Given the description of an element on the screen output the (x, y) to click on. 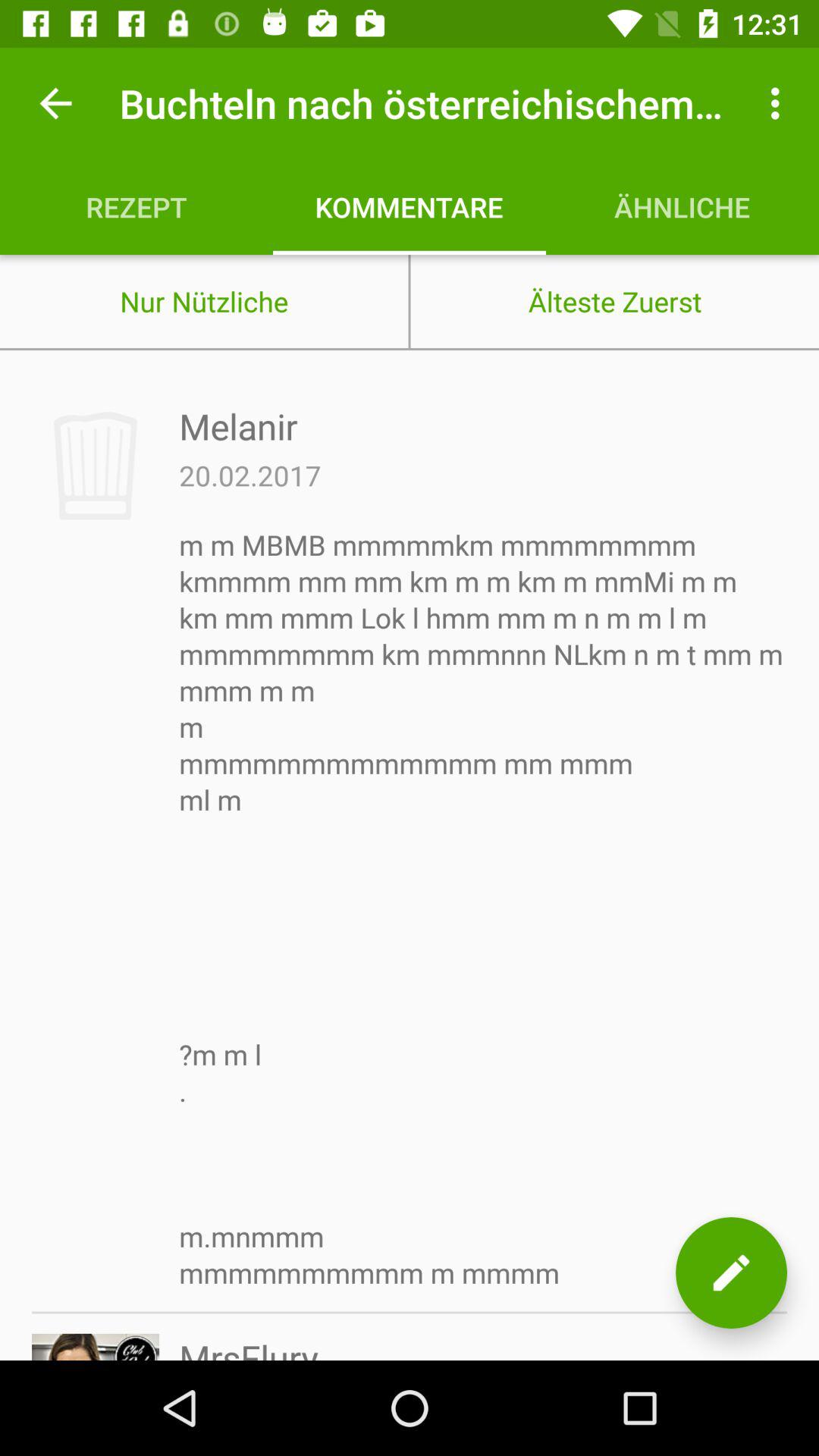
choose the item next to mrsflury icon (731, 1272)
